Given the description of an element on the screen output the (x, y) to click on. 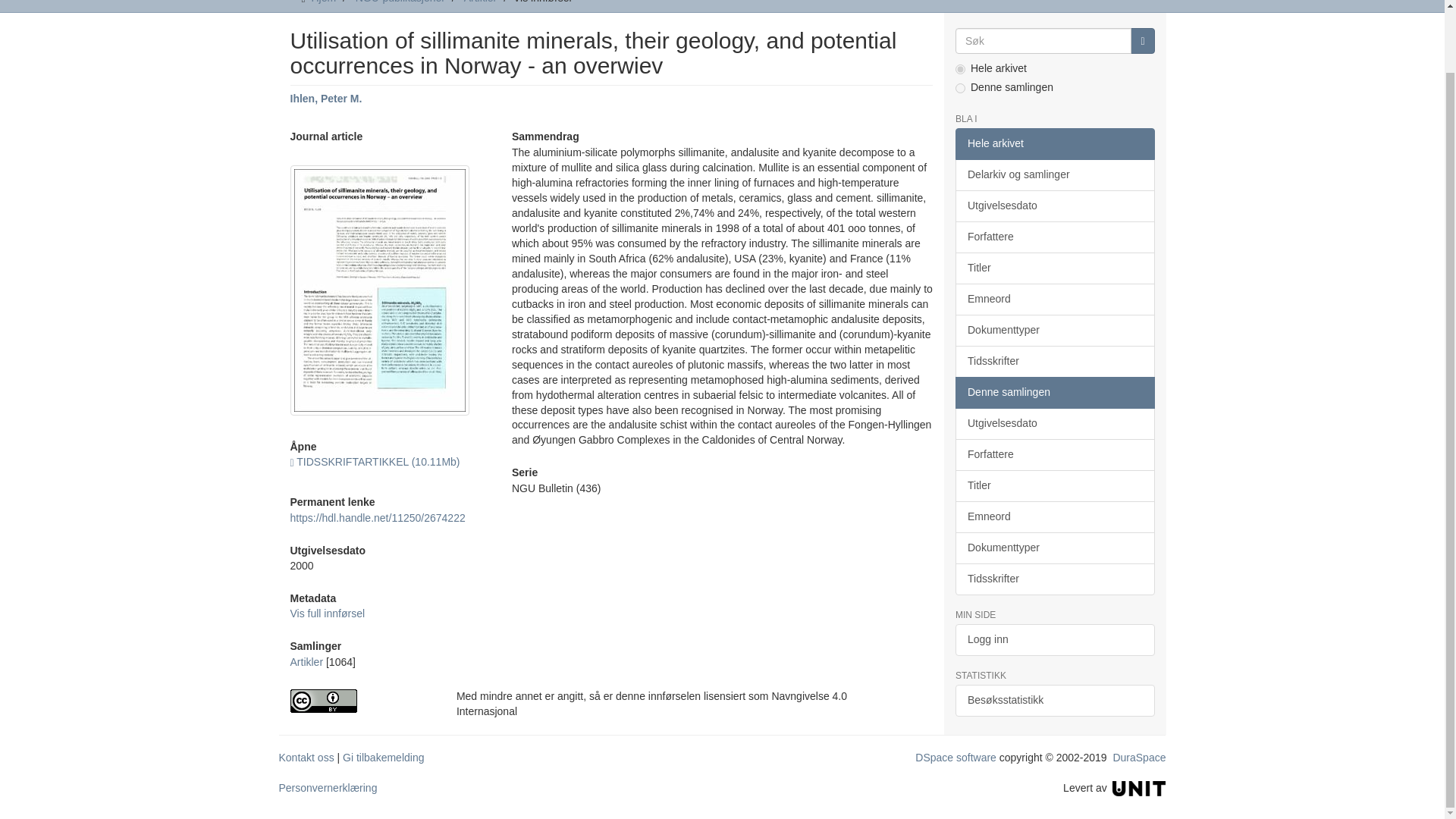
Forfattere (1054, 237)
Utgivelsesdato (1054, 205)
Navngivelse 4.0 Internasjonal (360, 700)
Dokumenttyper (1054, 330)
Unit (1139, 787)
Delarkiv og samlinger (1054, 174)
Titler (1054, 268)
Emneord (1054, 299)
Hjem (323, 2)
Artikler (480, 2)
